Given the description of an element on the screen output the (x, y) to click on. 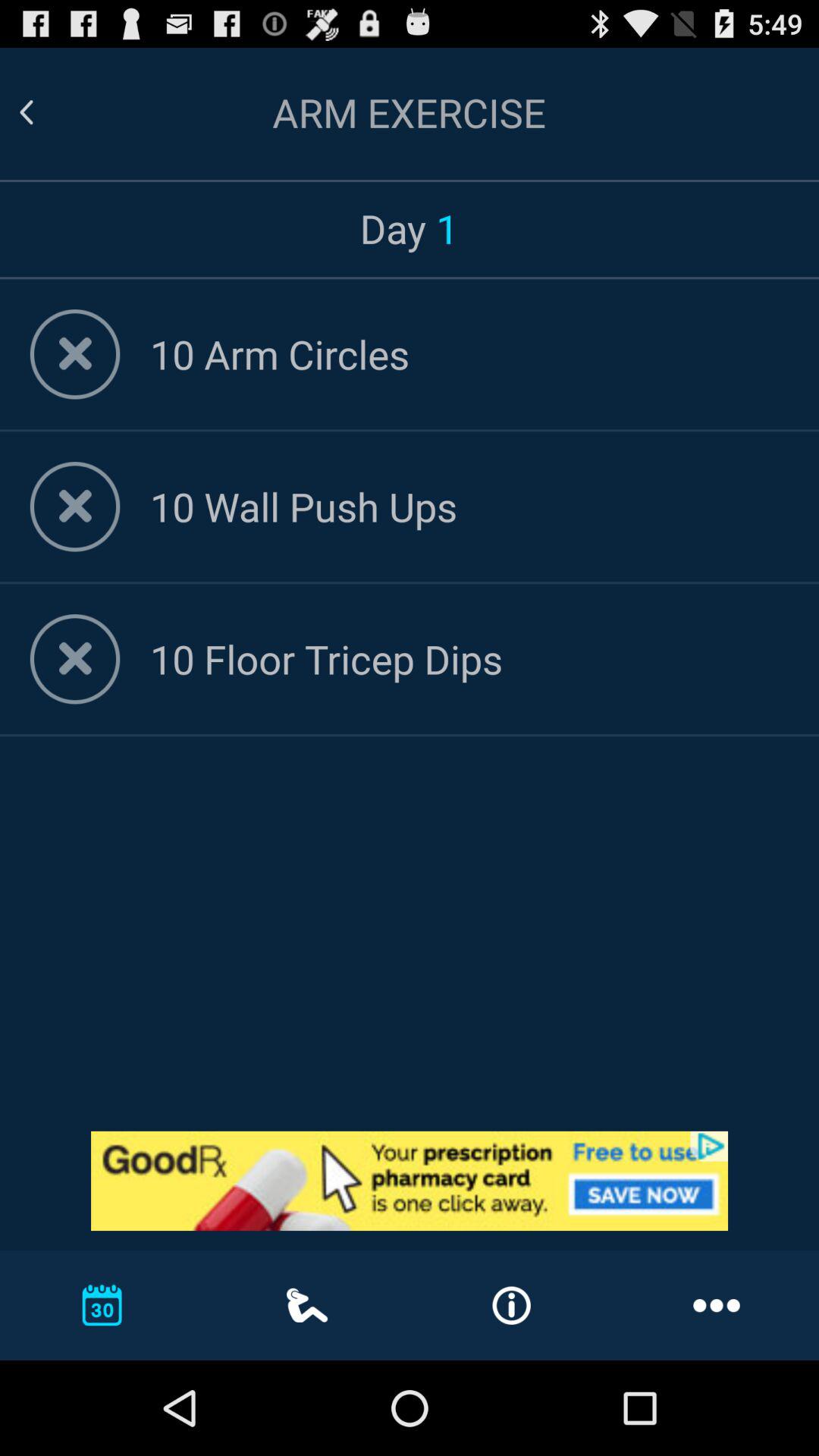
remove exercise (75, 506)
